Given the description of an element on the screen output the (x, y) to click on. 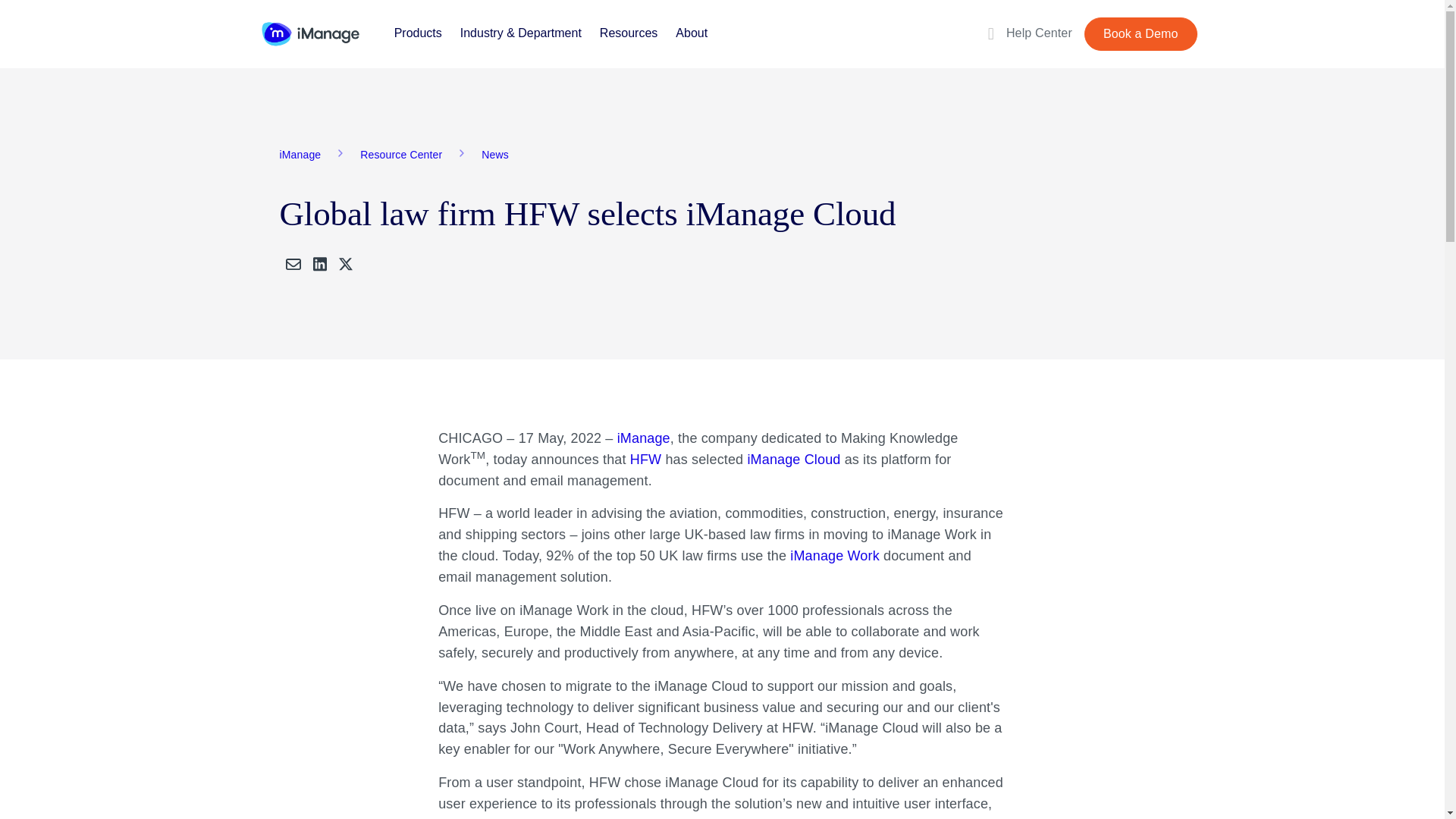
Products (418, 31)
Cloud (795, 459)
Work (834, 555)
iManage (643, 437)
iManage (309, 33)
